Given the description of an element on the screen output the (x, y) to click on. 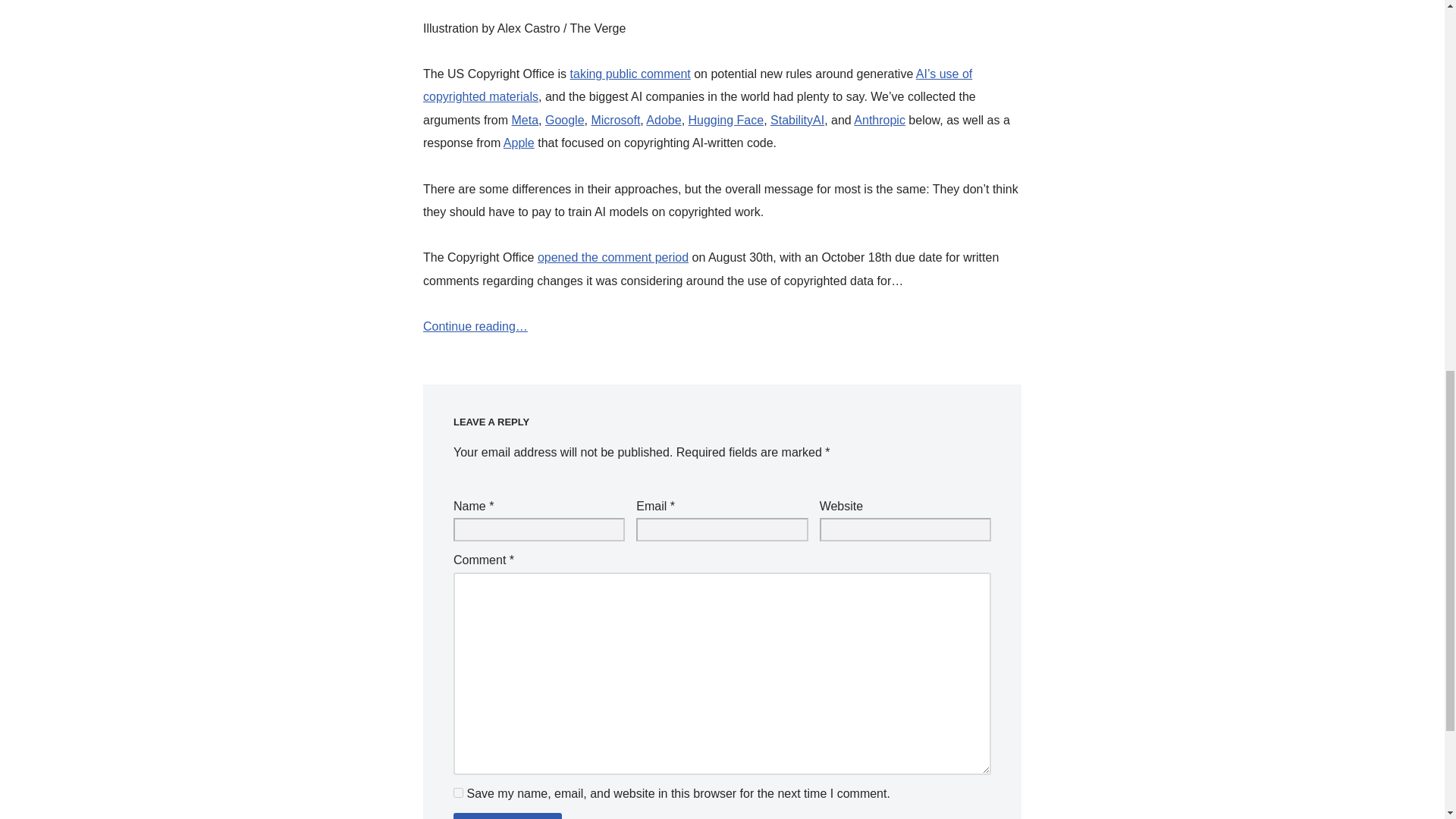
yes (457, 792)
Post Comment (507, 816)
Google (564, 119)
taking public comment (630, 73)
Meta (524, 119)
Hugging Face (726, 119)
Apple (518, 142)
Post Comment (507, 816)
Microsoft (615, 119)
opened the comment period (612, 256)
